Given the description of an element on the screen output the (x, y) to click on. 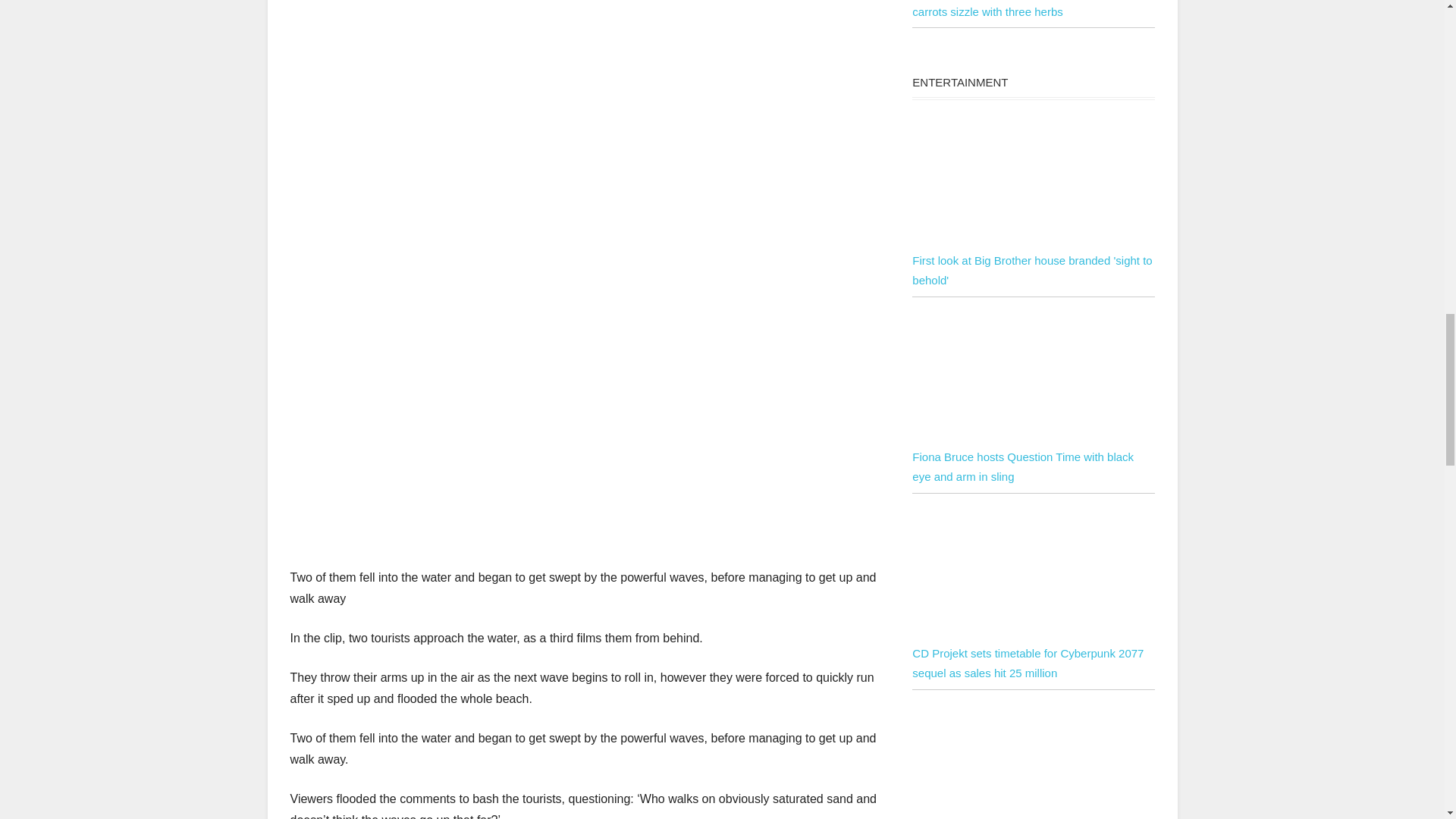
First look at Big Brother house branded 'sight to behold' (1033, 239)
First look at Big Brother house branded 'sight to behold' (1031, 269)
First look at Big Brother house branded 'sight to behold' (1033, 180)
